Given the description of an element on the screen output the (x, y) to click on. 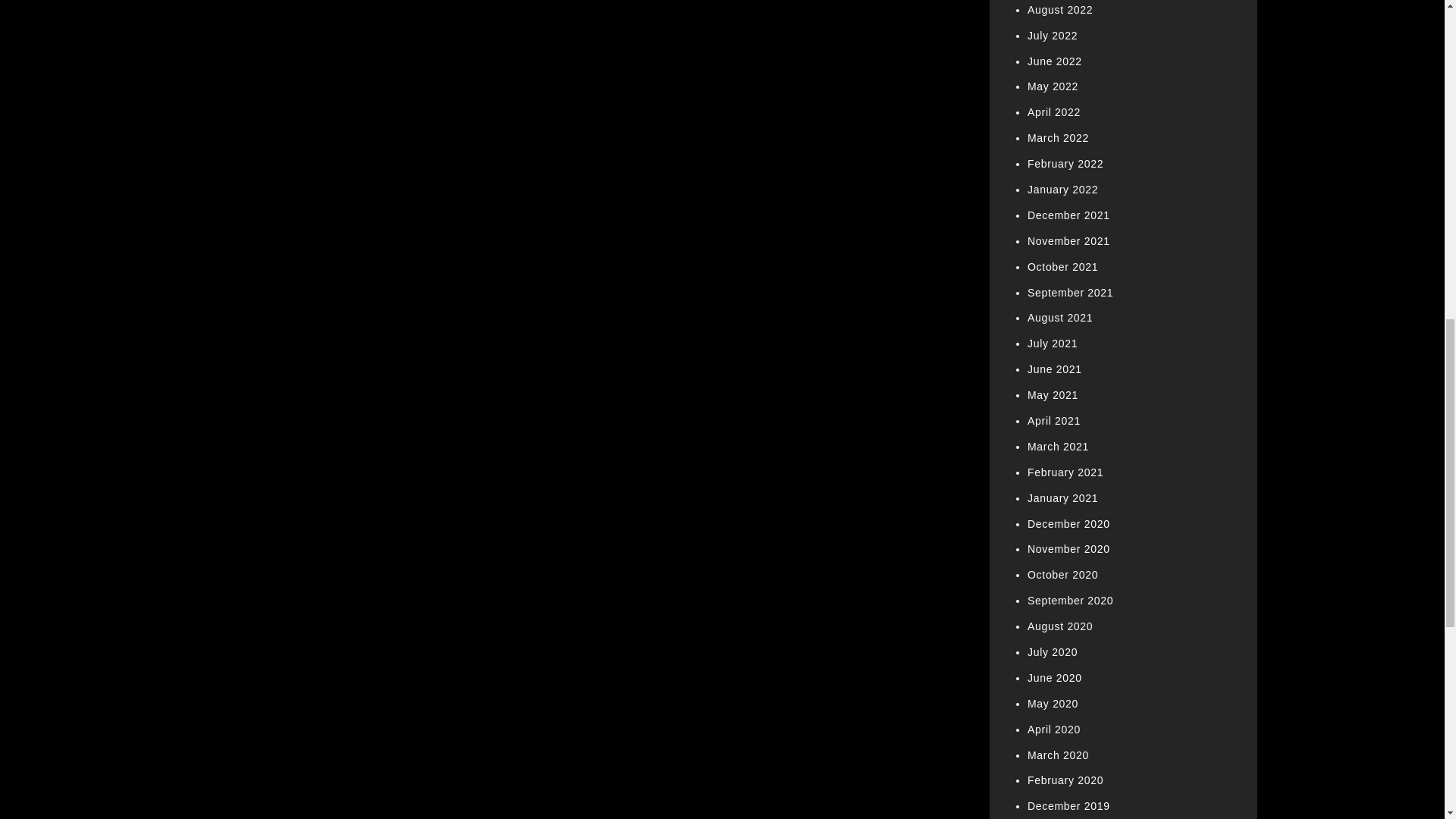
August 2022 (1060, 9)
January 2022 (1062, 189)
October 2021 (1062, 266)
April 2022 (1053, 111)
December 2021 (1068, 215)
August 2021 (1060, 317)
May 2022 (1052, 86)
February 2022 (1065, 163)
June 2022 (1054, 60)
September 2021 (1070, 292)
November 2021 (1068, 241)
March 2022 (1058, 137)
July 2022 (1052, 35)
